Given the description of an element on the screen output the (x, y) to click on. 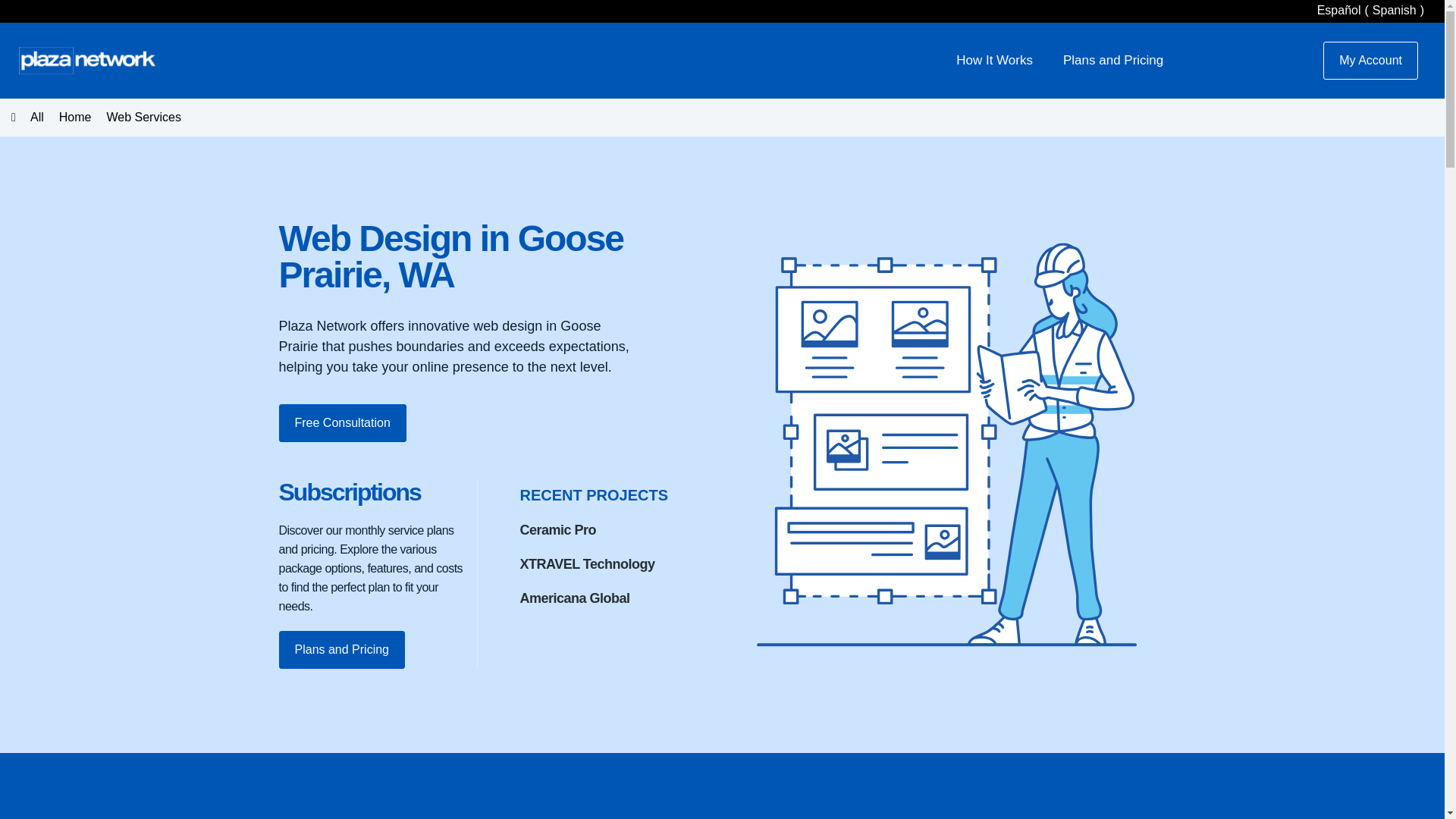
All (27, 116)
How It Works (994, 60)
Spanish (1371, 10)
Plans and Pricing (1112, 60)
Plans and Pricing (342, 669)
Free Consultation (342, 436)
My Account (1370, 60)
Web Services (143, 117)
Home (74, 117)
